Given the description of an element on the screen output the (x, y) to click on. 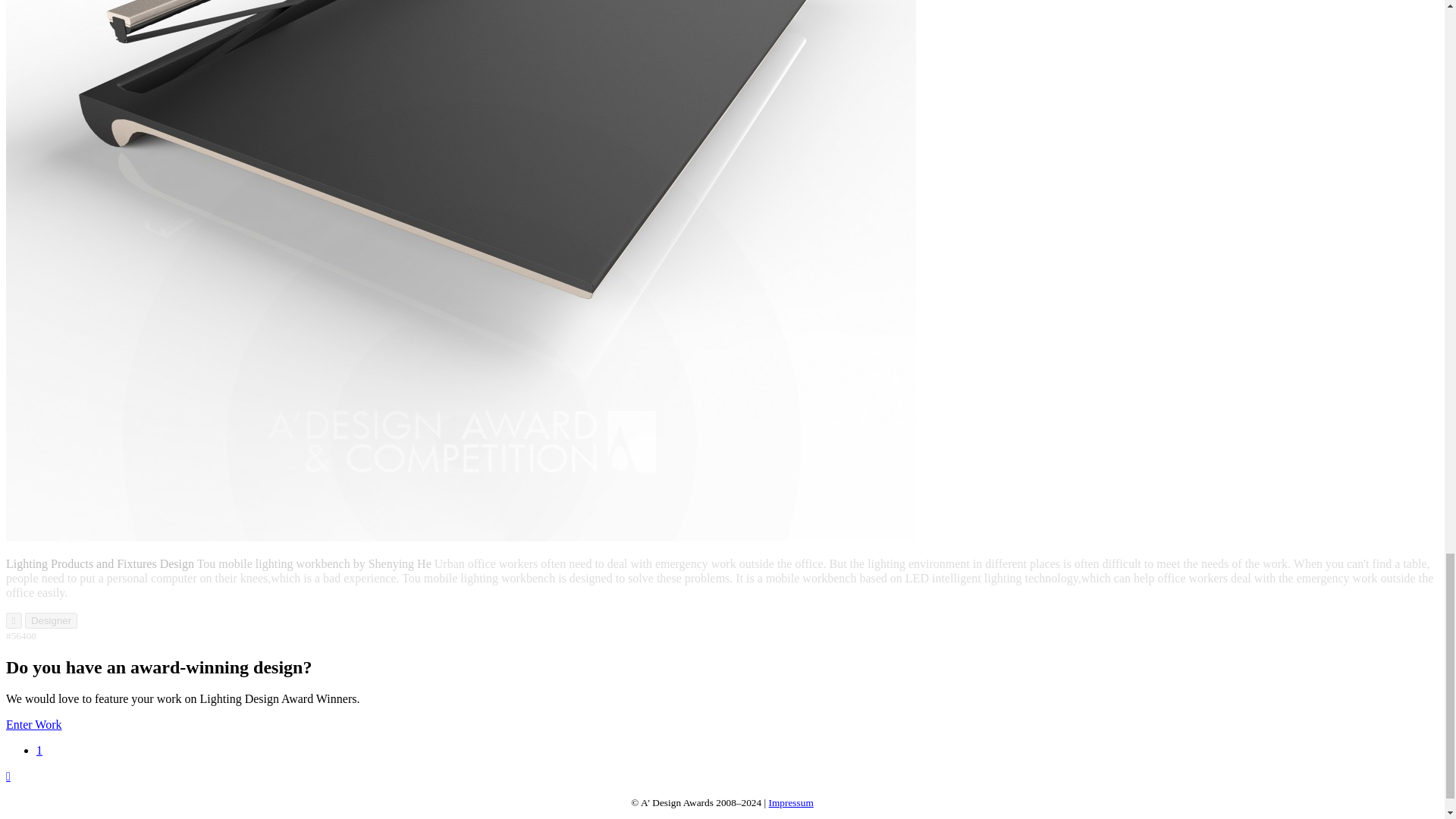
Enter Work (33, 724)
Designer (50, 620)
1 (39, 749)
Impressum (790, 802)
